Given the description of an element on the screen output the (x, y) to click on. 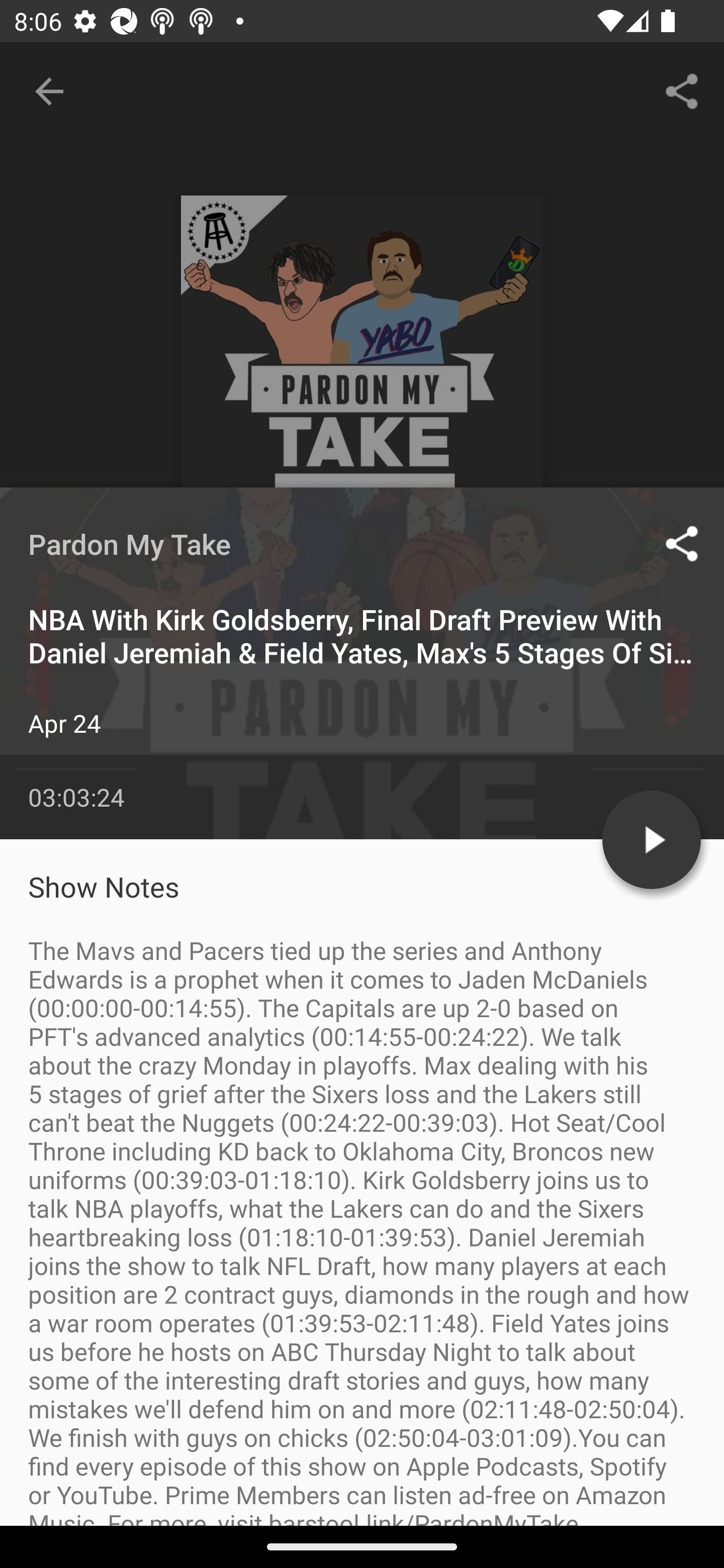
Navigate up (49, 91)
Share... (681, 90)
